Given the description of an element on the screen output the (x, y) to click on. 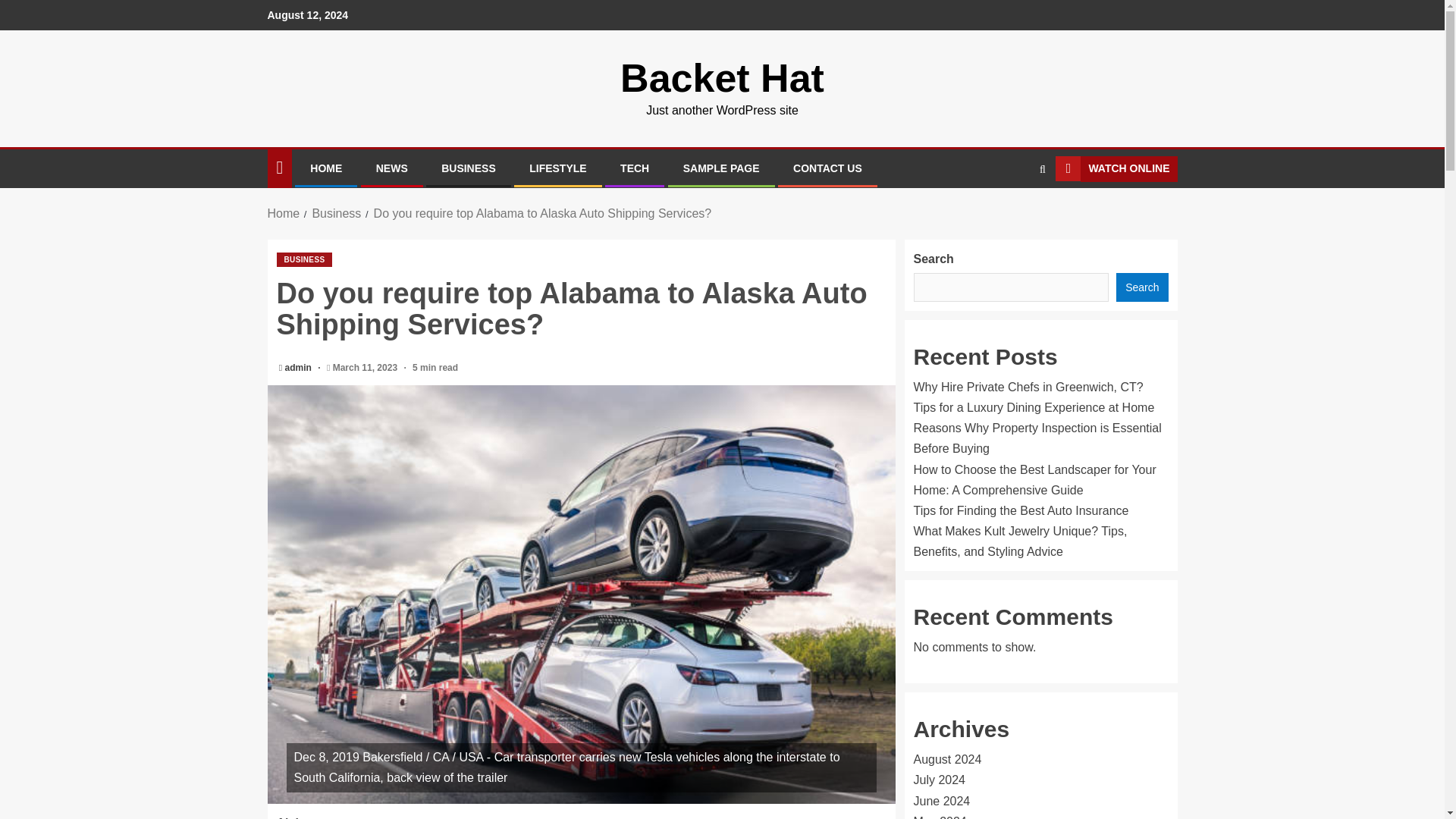
LIFESTYLE (557, 168)
TECH (634, 168)
Search (1013, 214)
Backet Hat (722, 77)
SAMPLE PAGE (721, 168)
HOME (326, 168)
BUSINESS (303, 259)
BUSINESS (468, 168)
CONTACT US (827, 168)
WATCH ONLINE (1115, 168)
